Given the description of an element on the screen output the (x, y) to click on. 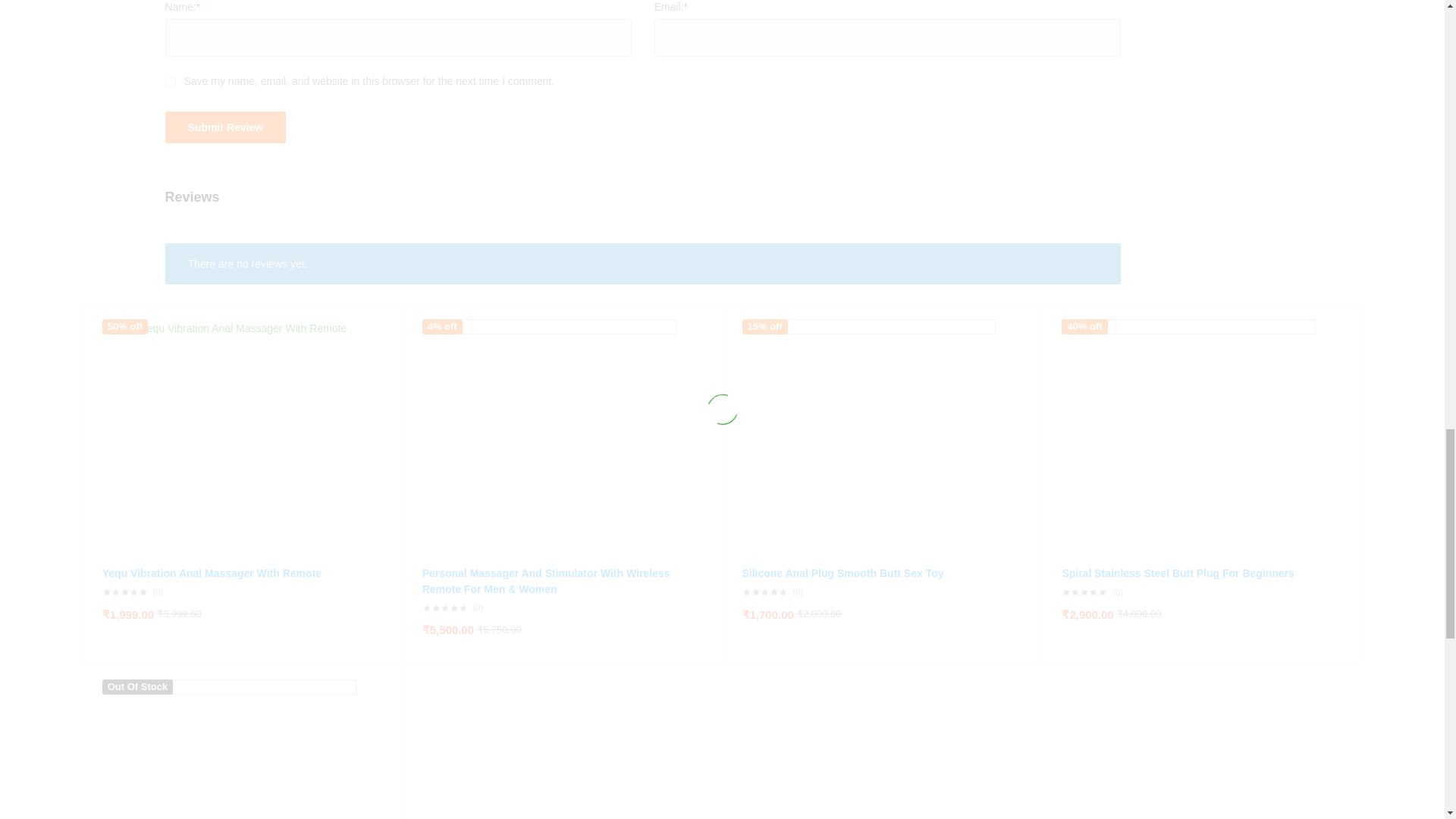
Submit Review (225, 127)
